Given the description of an element on the screen output the (x, y) to click on. 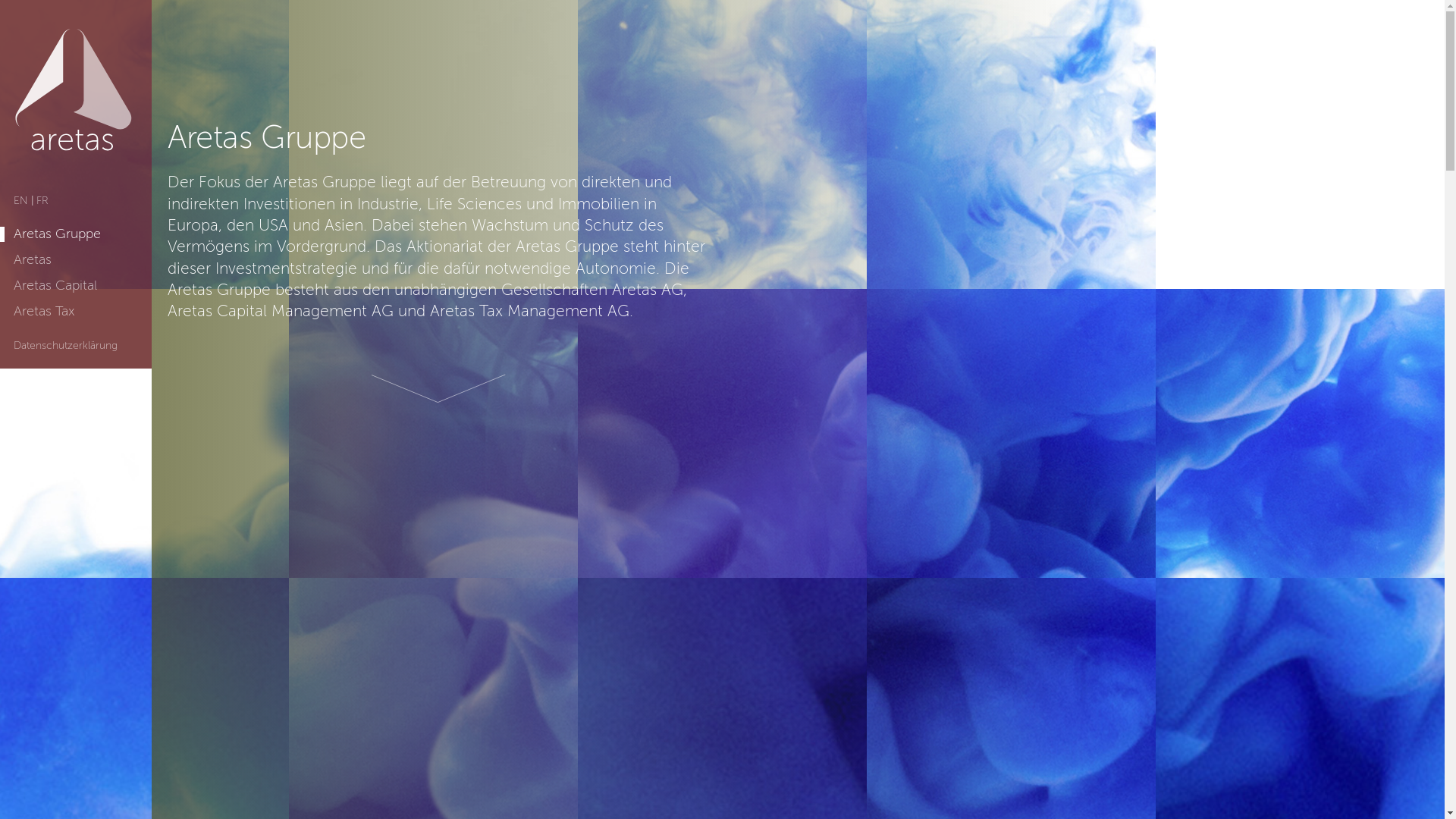
EN Element type: text (20, 200)
Aretas Capital Element type: text (55, 285)
Aretas Tax Element type: text (44, 311)
Aretas Gruppe Element type: text (56, 234)
FR Element type: text (42, 200)
Aretas Element type: text (32, 259)
